Given the description of an element on the screen output the (x, y) to click on. 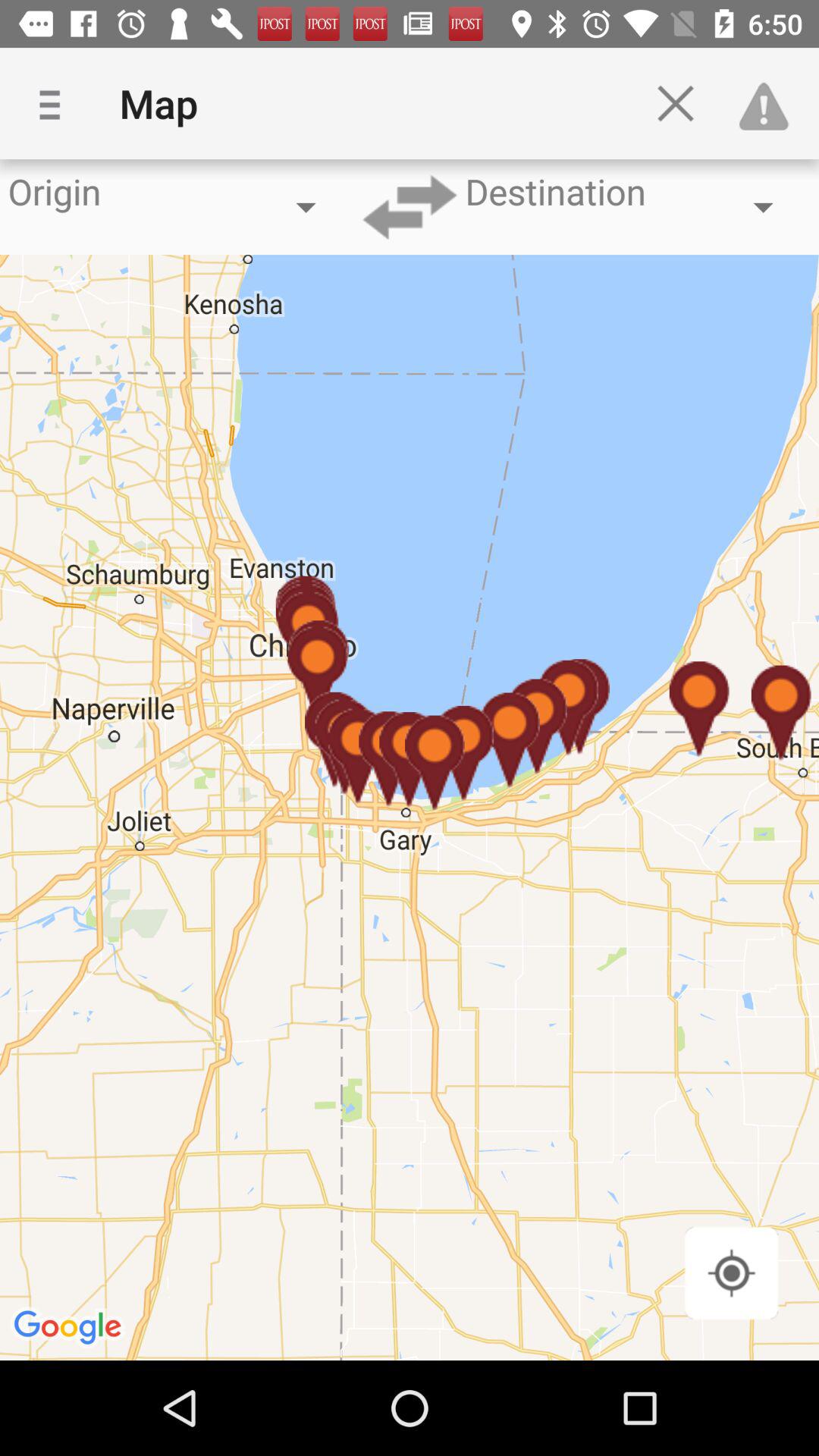
select destination (409, 206)
